Given the description of an element on the screen output the (x, y) to click on. 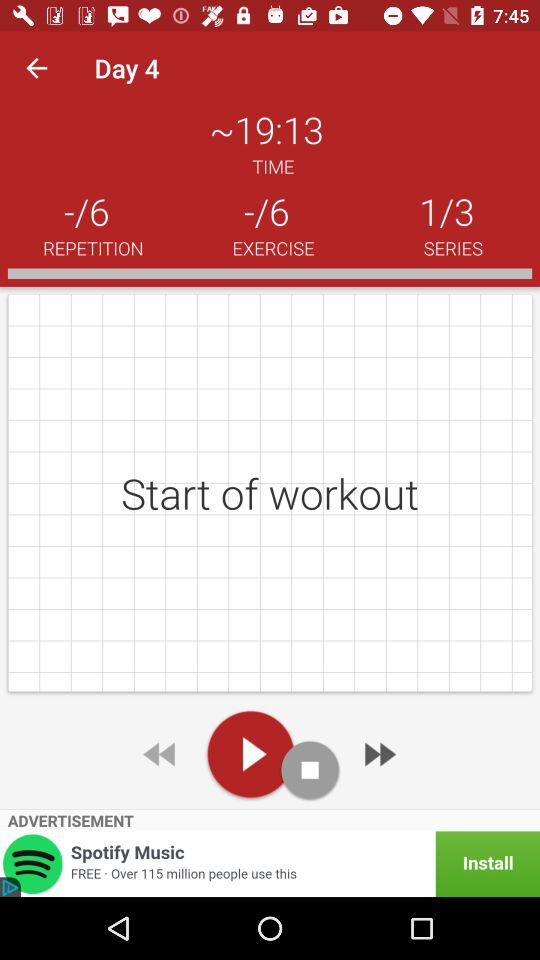
previous page (161, 754)
